Given the description of an element on the screen output the (x, y) to click on. 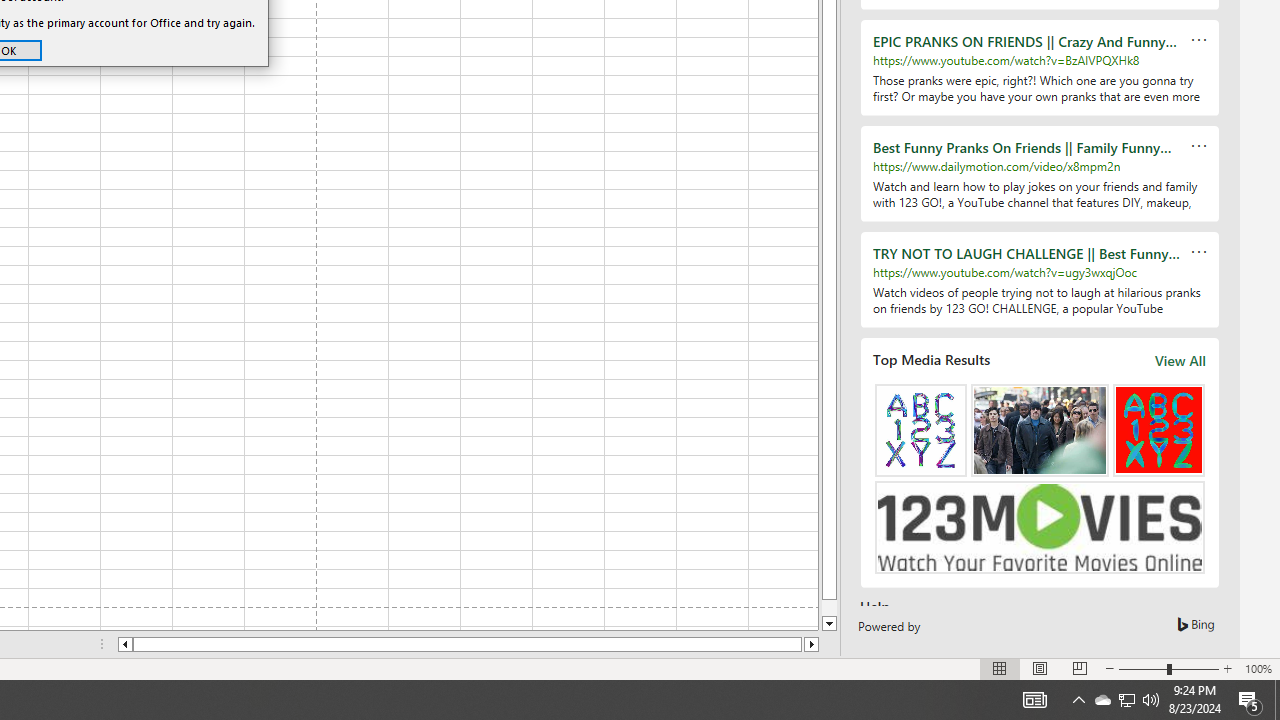
User Promoted Notification Area (1126, 699)
AutomationID: 4105 (1126, 699)
Action Center, 5 new notifications (1034, 699)
Show desktop (1102, 699)
